Given the description of an element on the screen output the (x, y) to click on. 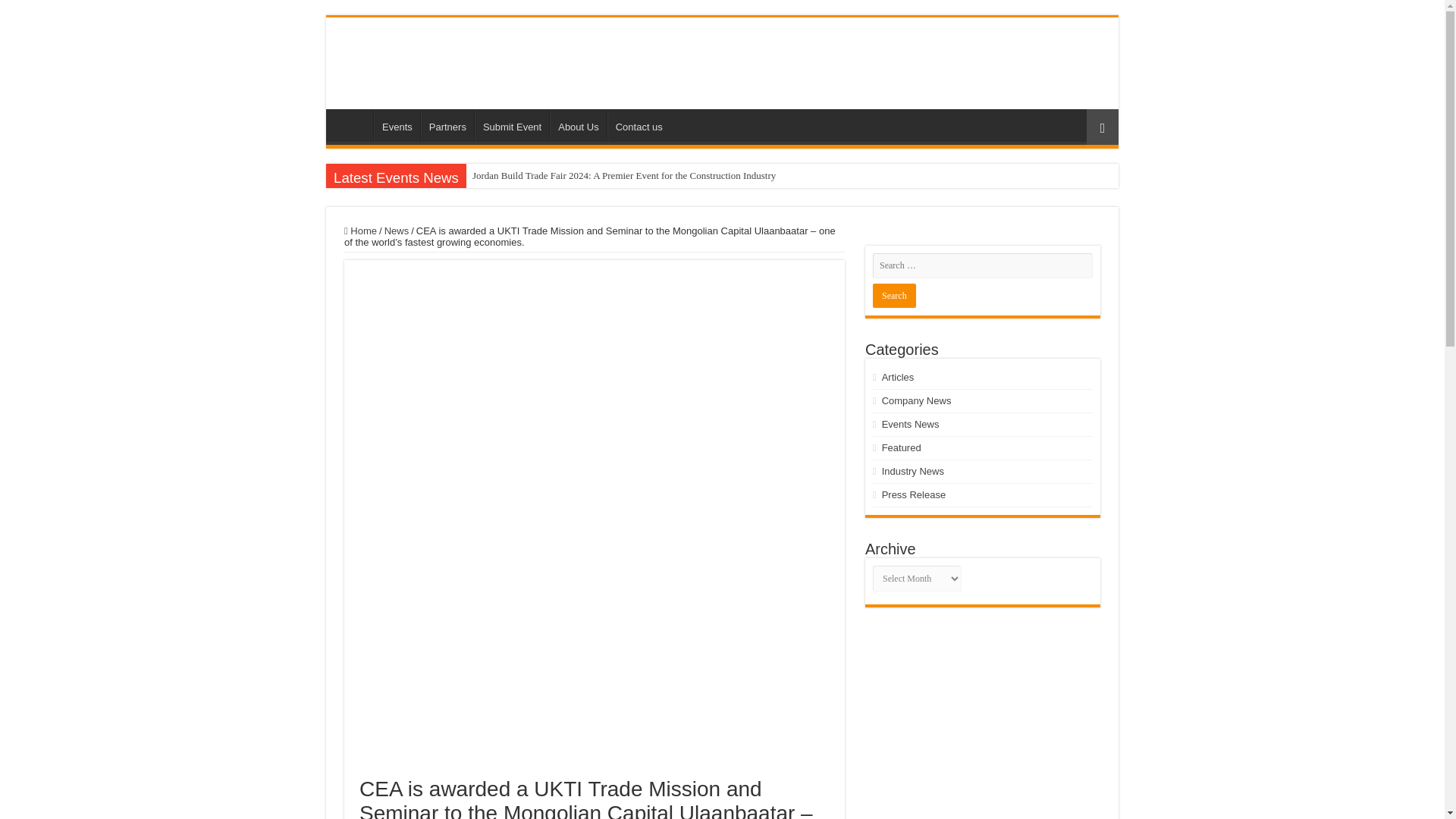
Home (360, 230)
Events (397, 124)
Partners (447, 124)
Search (893, 295)
Home (352, 124)
News (396, 230)
Search (893, 295)
Submit Event (511, 124)
Random Article (1102, 126)
